Given the description of an element on the screen output the (x, y) to click on. 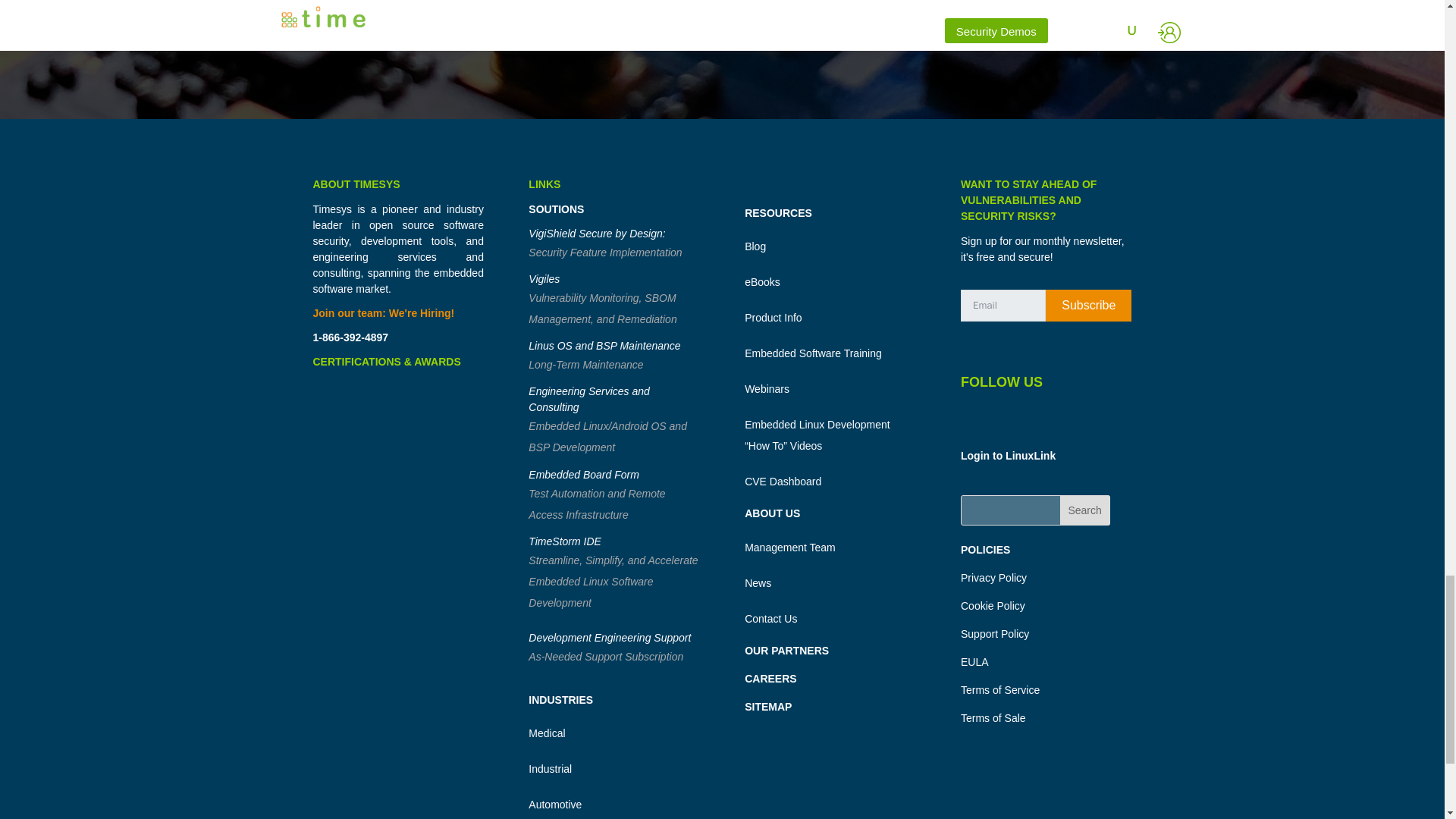
Schedule a Conversation Today (722, 26)
